Given the description of an element on the screen output the (x, y) to click on. 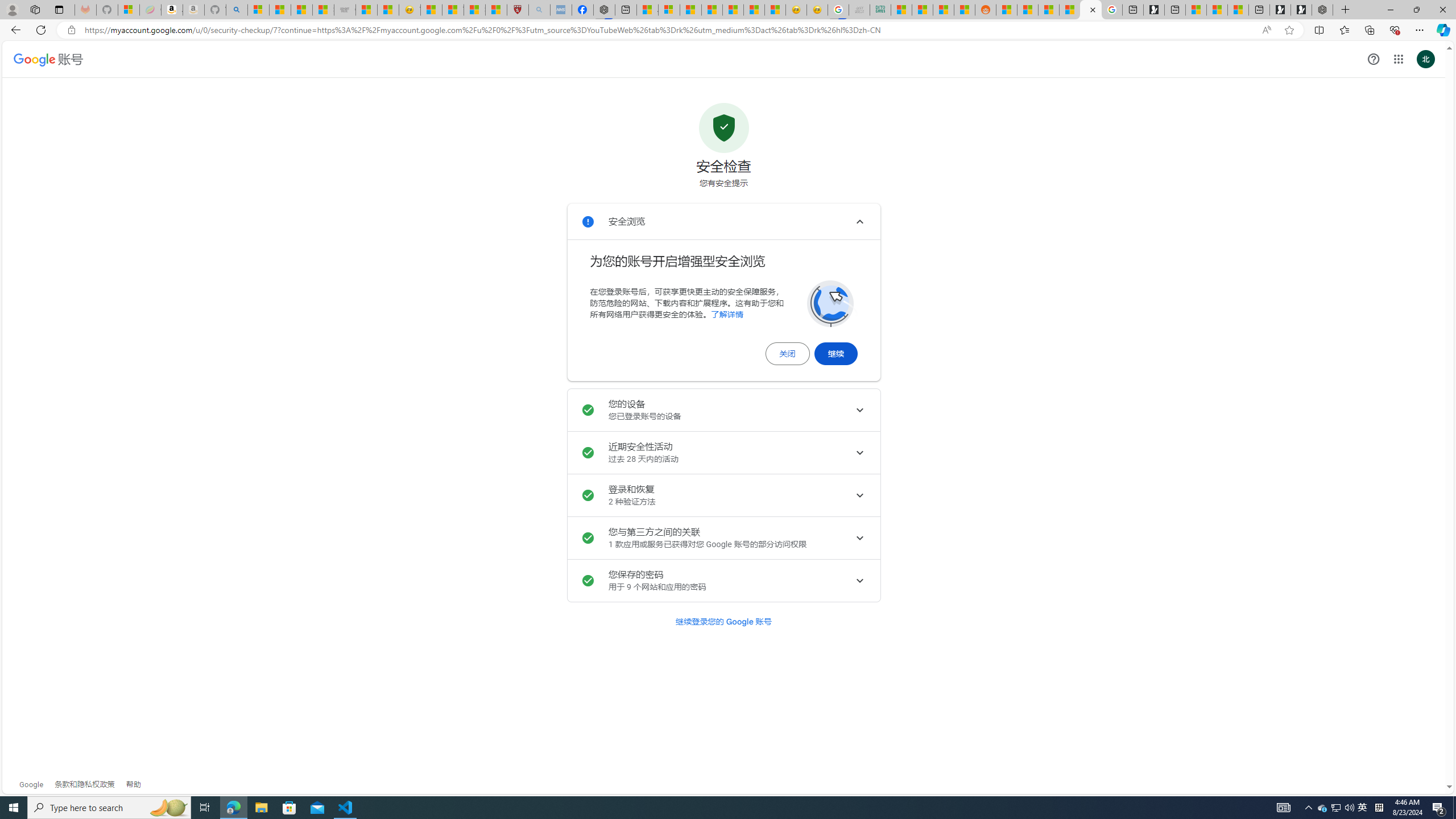
Robert H. Shmerling, MD - Harvard Health (517, 9)
Combat Siege (345, 9)
Class: gb_E (1398, 59)
Recipes - MSN (431, 9)
